Given the description of an element on the screen output the (x, y) to click on. 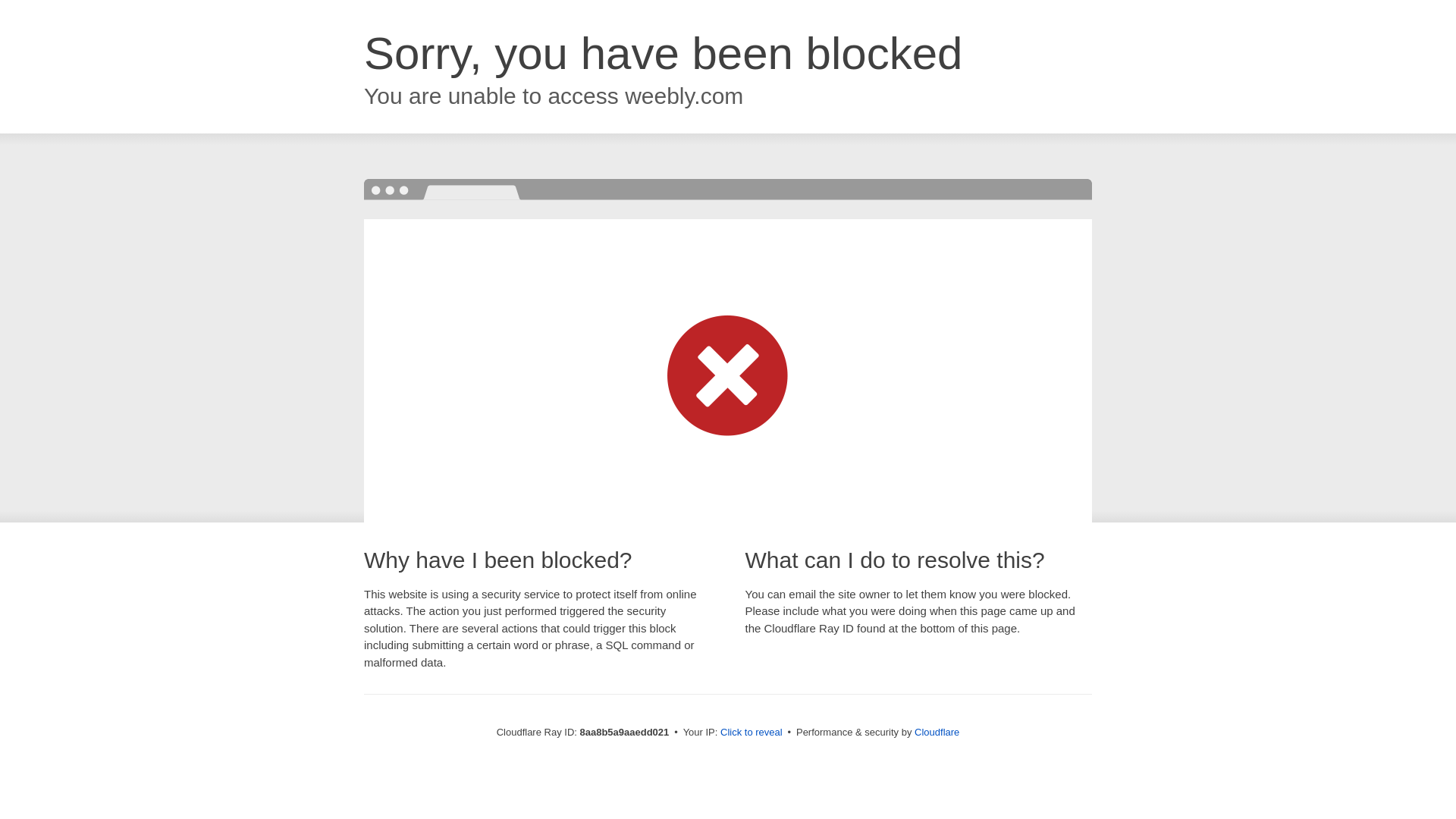
Click to reveal (751, 732)
Cloudflare (936, 731)
